Given the description of an element on the screen output the (x, y) to click on. 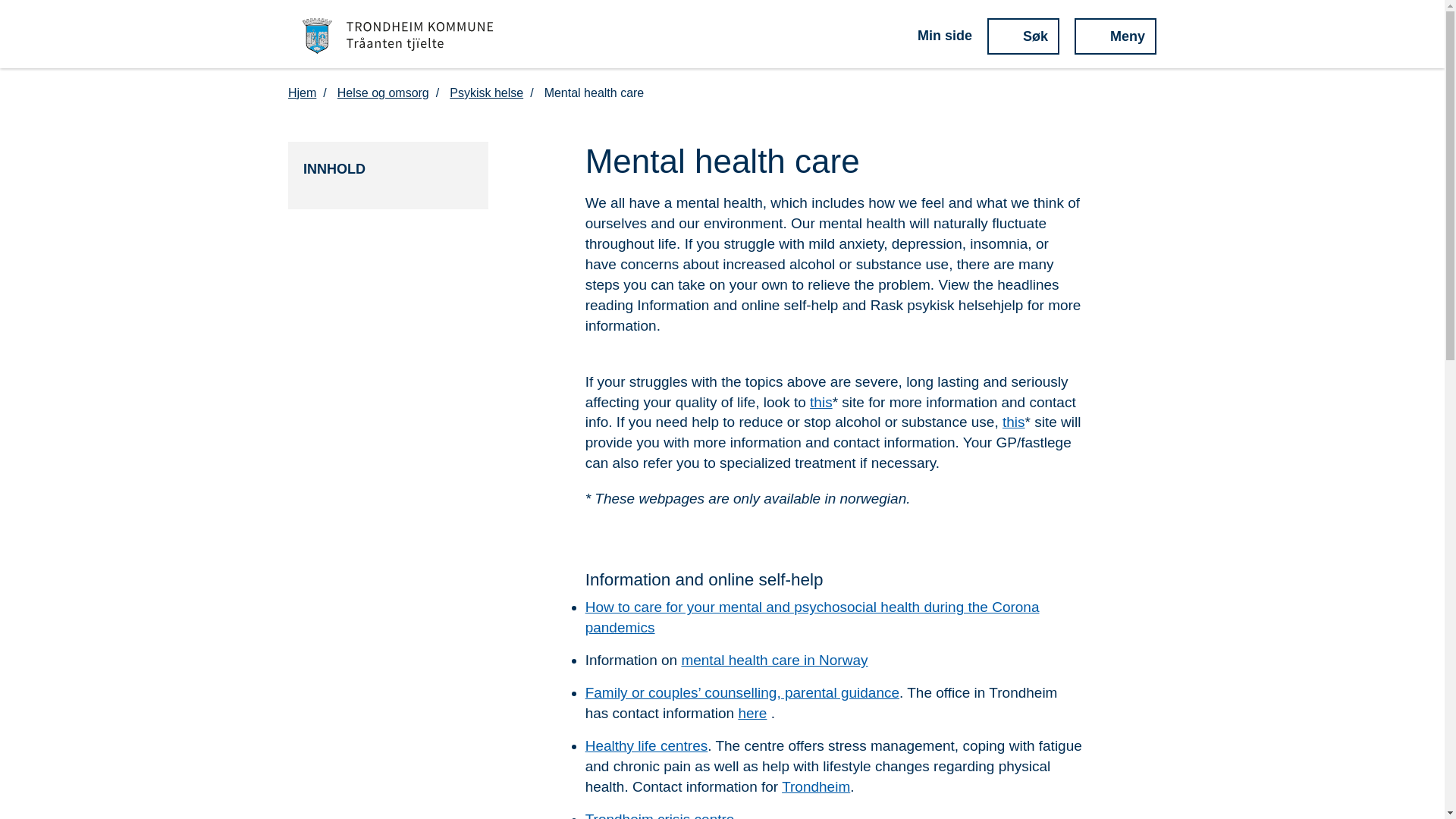
this (820, 401)
Min side (933, 35)
Meny (1115, 36)
Helse og omsorg (391, 93)
Psykisk helse (494, 93)
Trondheim (815, 786)
Trondheim kommune (398, 35)
Hjem (310, 93)
here (752, 713)
Trondheim crisis centre (660, 815)
this (1014, 421)
Healthy life centres (646, 745)
INNHOLD (387, 169)
mental health care in Norway (774, 659)
